Given the description of an element on the screen output the (x, y) to click on. 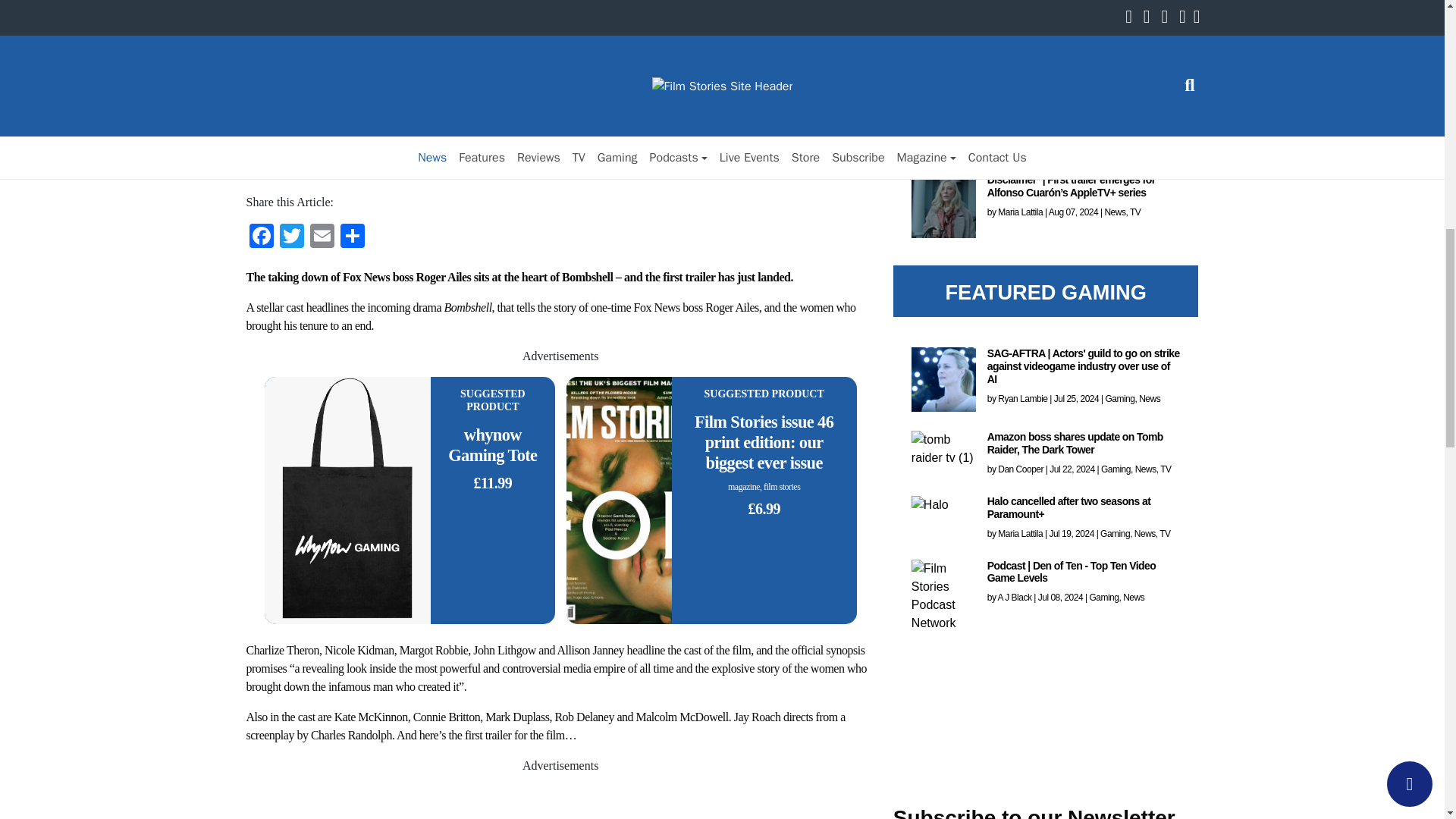
Email (320, 239)
Facebook (261, 239)
Share (351, 239)
Twitter (290, 239)
Email (320, 239)
whynow Gaming Tote (492, 445)
Twitter (290, 239)
Facebook (261, 239)
